Given the description of an element on the screen output the (x, y) to click on. 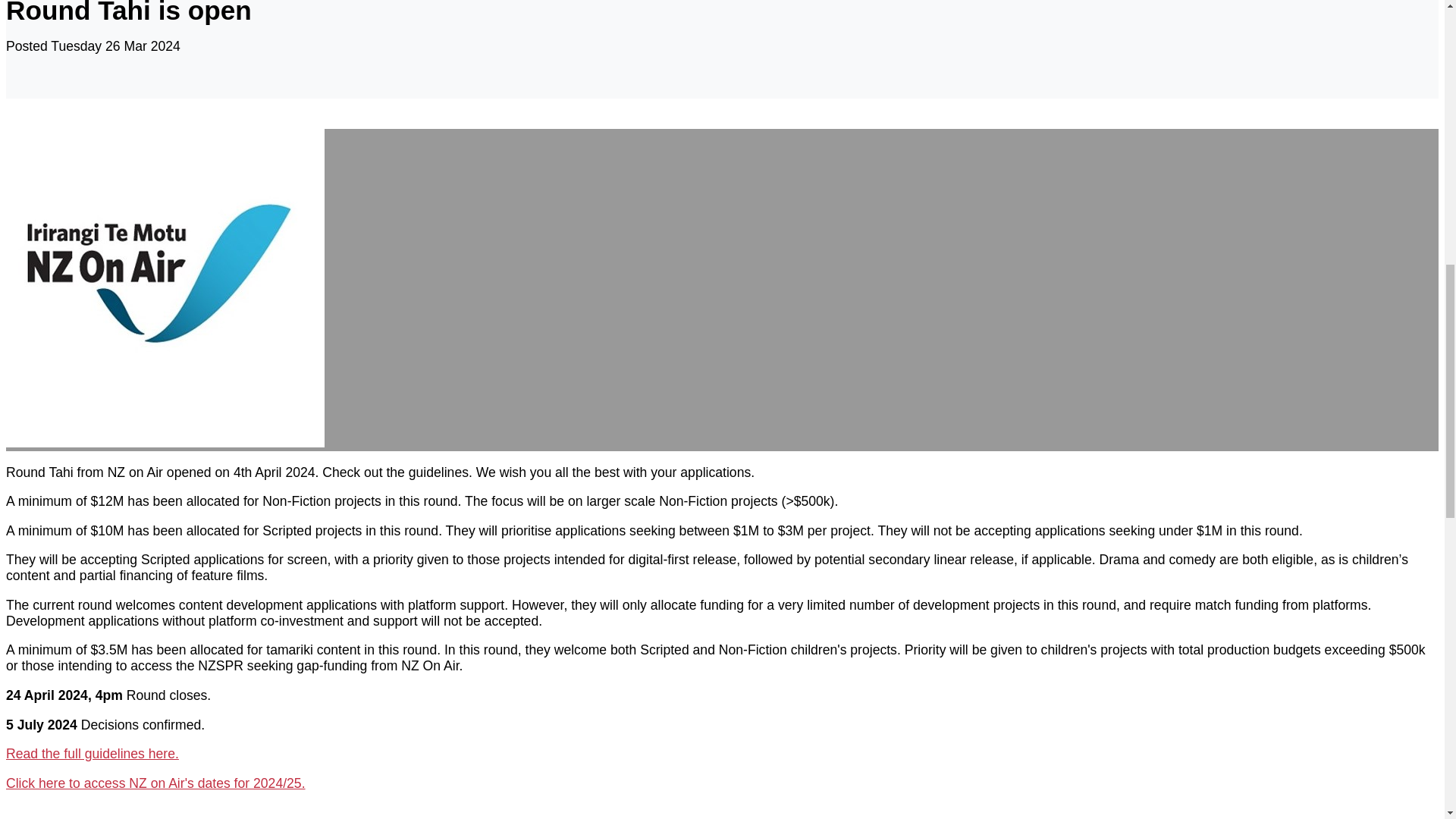
Read the full guidelines here. (92, 753)
